Given the description of an element on the screen output the (x, y) to click on. 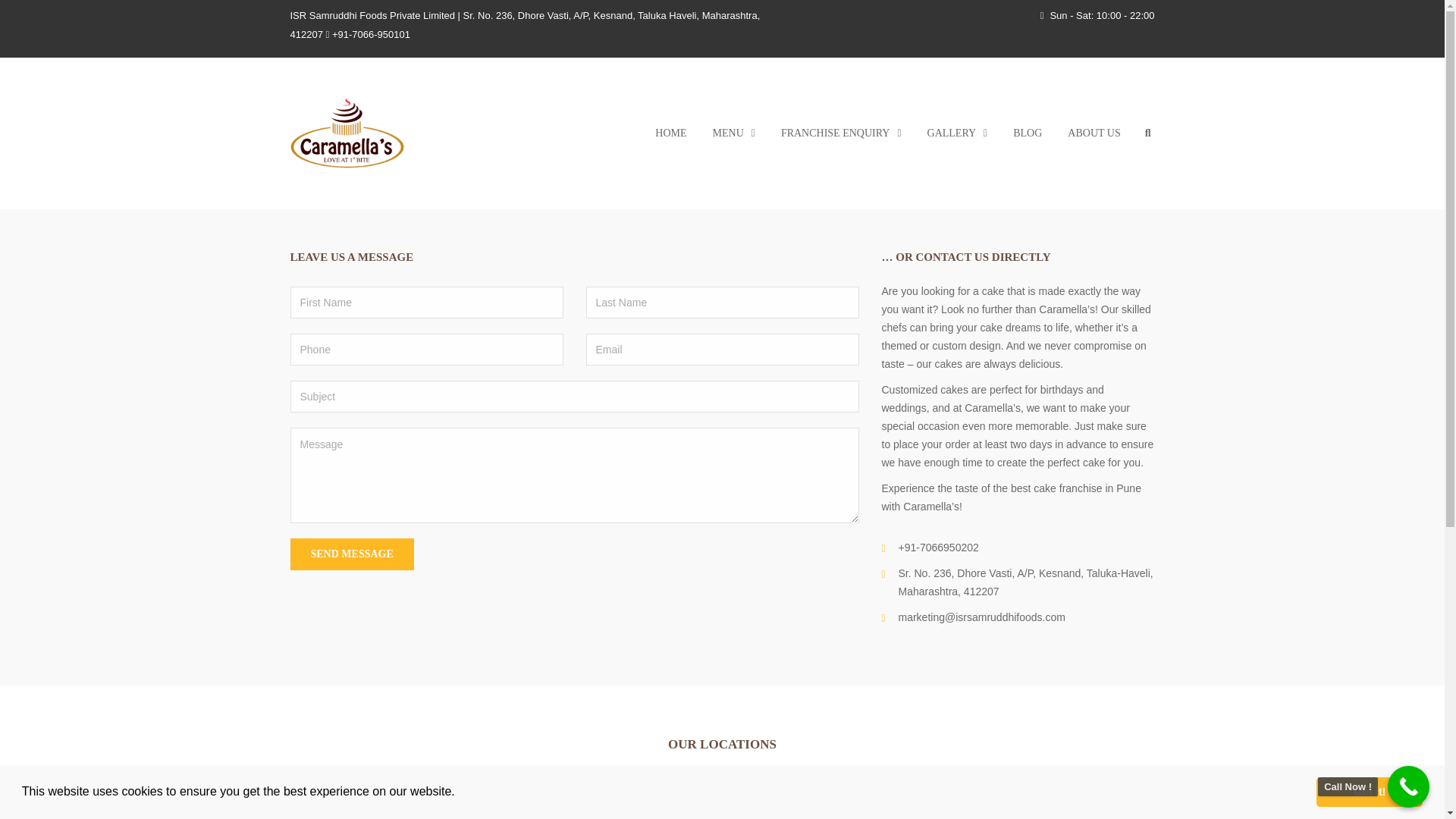
SEND MESSAGE (351, 554)
MENU (734, 133)
Got it! (1369, 791)
ABOUT US (1093, 133)
SEND MESSAGE (351, 554)
BLOG (1027, 133)
FRANCHISE ENQUIRY (841, 133)
HOME (670, 133)
GALLERY (957, 133)
